Given the description of an element on the screen output the (x, y) to click on. 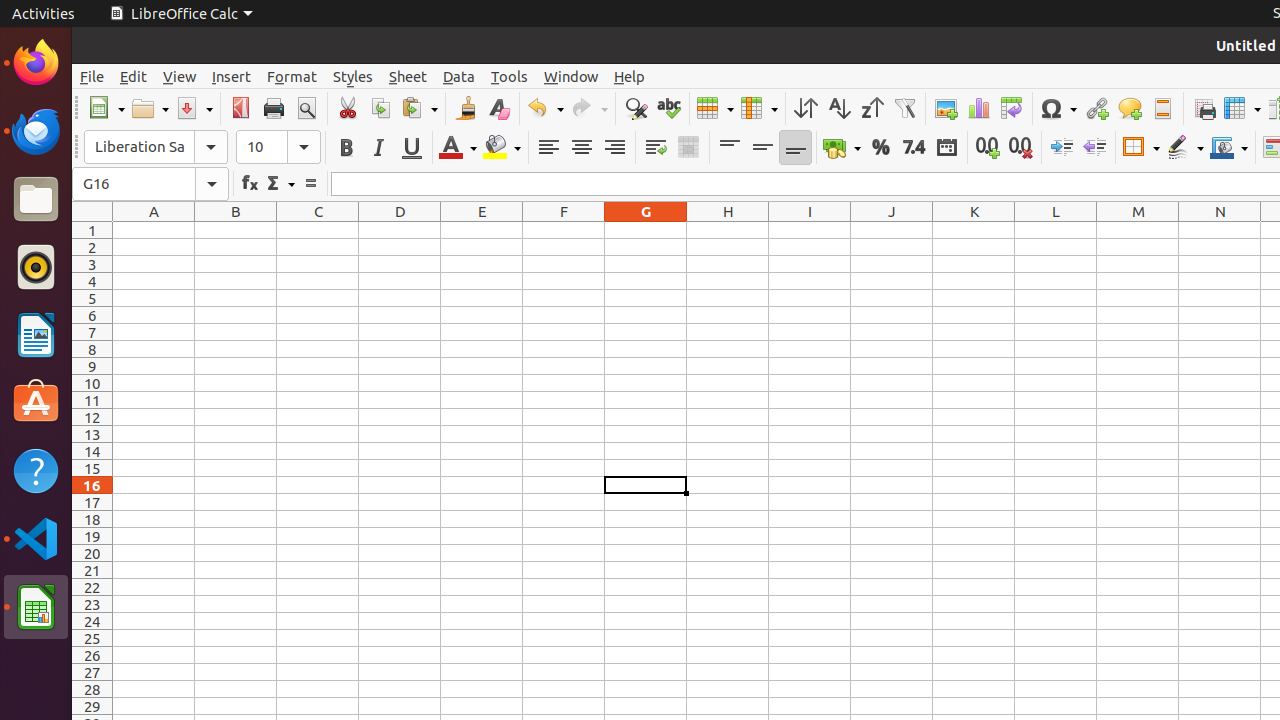
L1 Element type: table-cell (1056, 230)
Data Element type: menu (459, 76)
LibreOffice Calc Element type: menu (181, 13)
M1 Element type: table-cell (1138, 230)
Edit Element type: menu (133, 76)
